Given the description of an element on the screen output the (x, y) to click on. 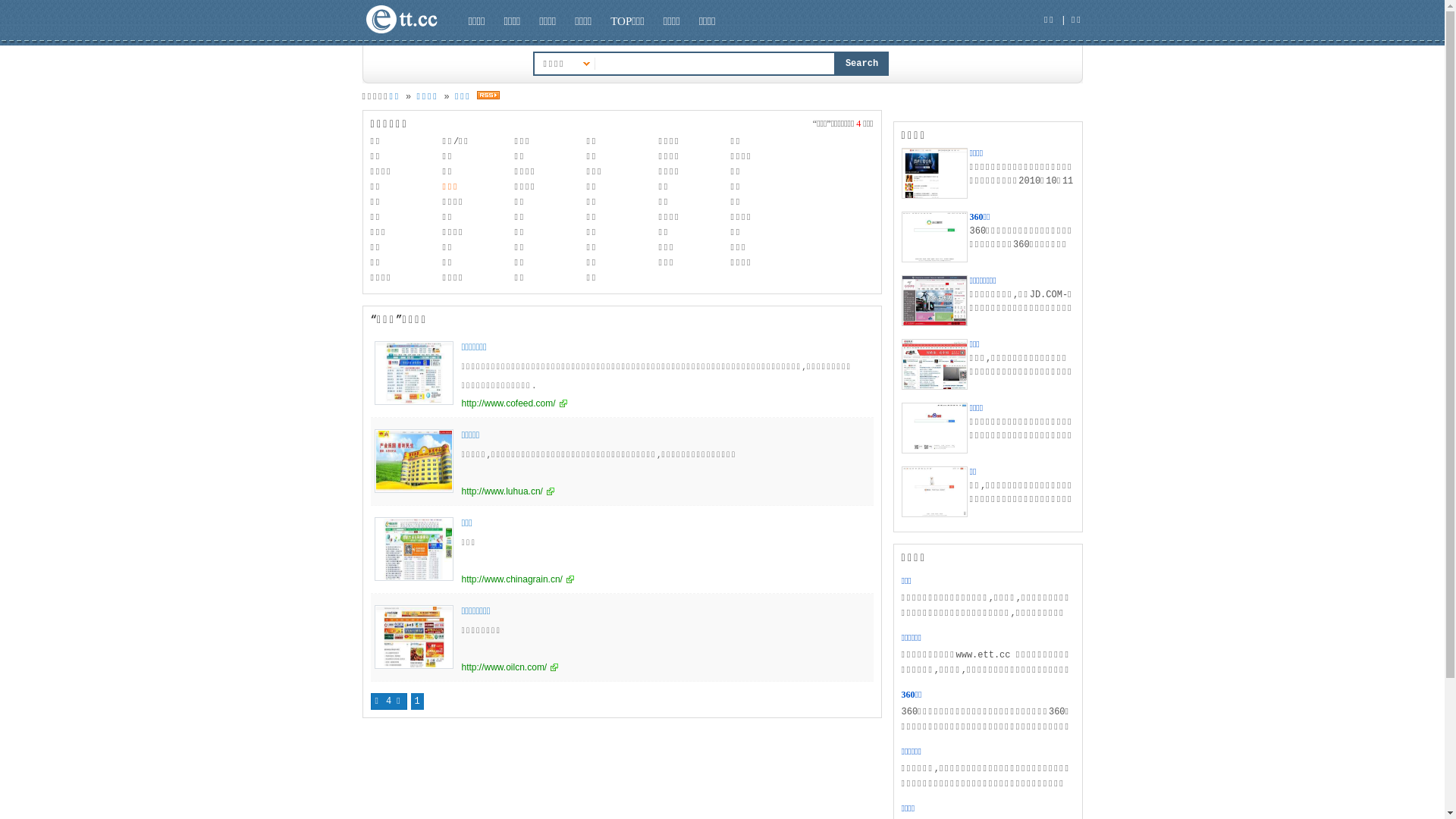
http://www.oilcn.com/ Element type: text (509, 667)
http://www.luhua.cn/ Element type: text (507, 491)
Search Element type: text (861, 63)
http://www.cofeed.com/ Element type: text (513, 403)
http://www.chinagrain.cn/ Element type: text (517, 579)
